Given the description of an element on the screen output the (x, y) to click on. 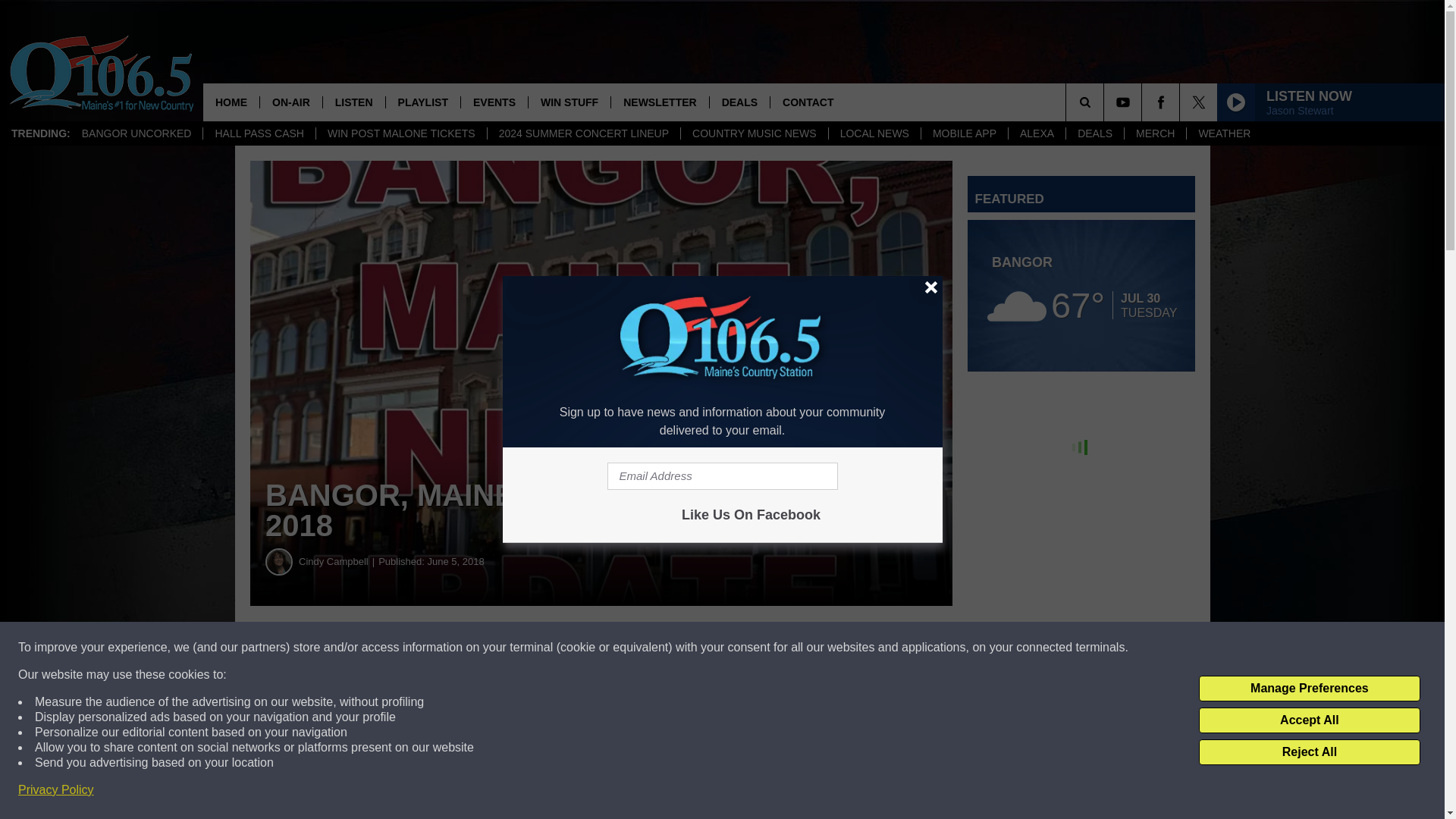
2024 SUMMER CONCERT LINEUP (582, 133)
Privacy Policy (55, 789)
Reject All (1309, 751)
Share on Twitter (741, 647)
WIN STUFF (568, 102)
EVENTS (493, 102)
LISTEN (353, 102)
SEARCH (1106, 102)
COUNTRY MUSIC NEWS (753, 133)
Bangor Weather (1081, 295)
DEALS (1094, 133)
Email Address (722, 475)
BANGOR UNCORKED (136, 133)
Share on Facebook (460, 647)
SEARCH (1106, 102)
